Given the description of an element on the screen output the (x, y) to click on. 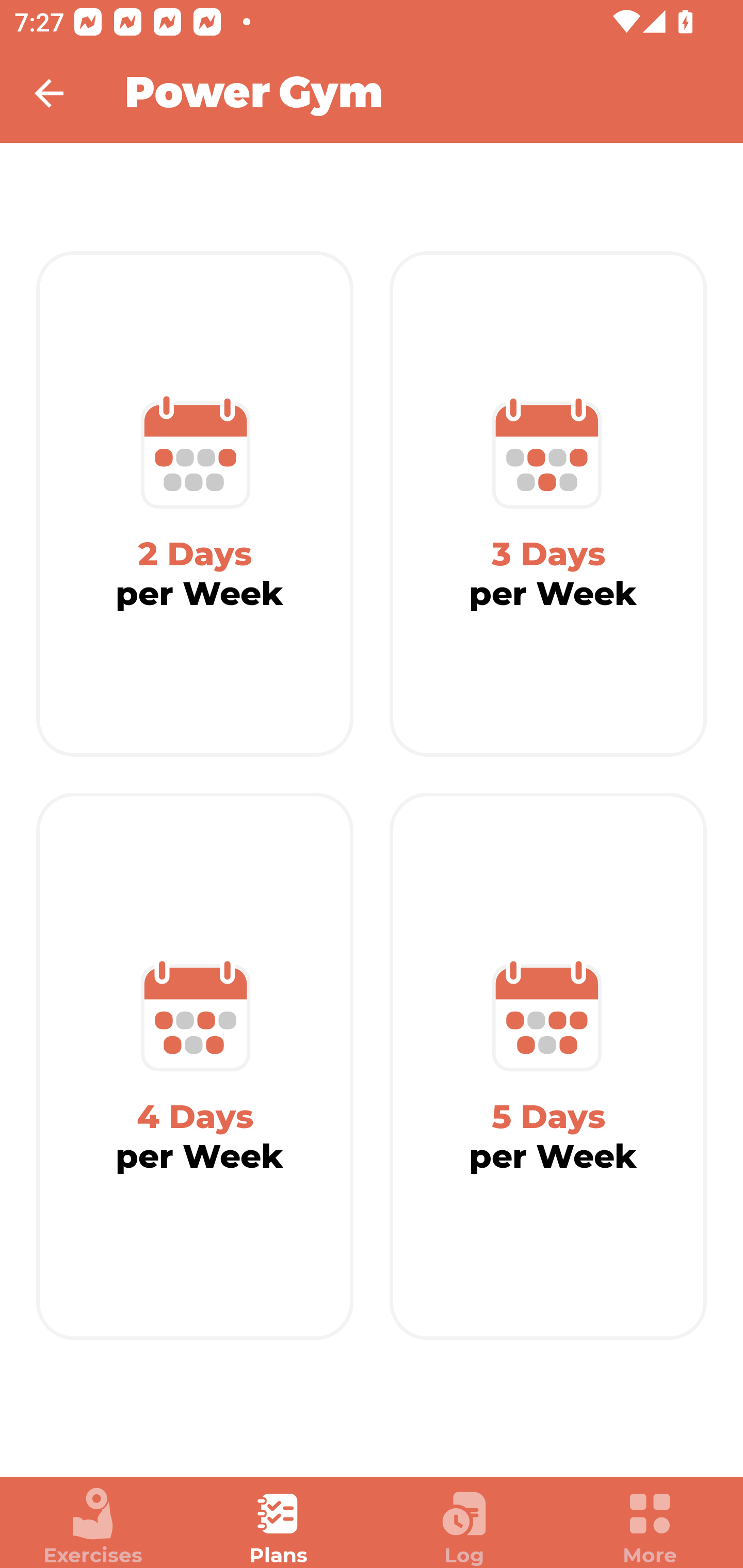
Back (62, 92)
2 Days
 per Week (194, 503)
3 Days
 per Week (547, 503)
4 Days
 per Week (194, 1066)
5 Days
 per Week (547, 1066)
Exercises (92, 1527)
Plans (278, 1527)
Log (464, 1527)
More (650, 1527)
